Given the description of an element on the screen output the (x, y) to click on. 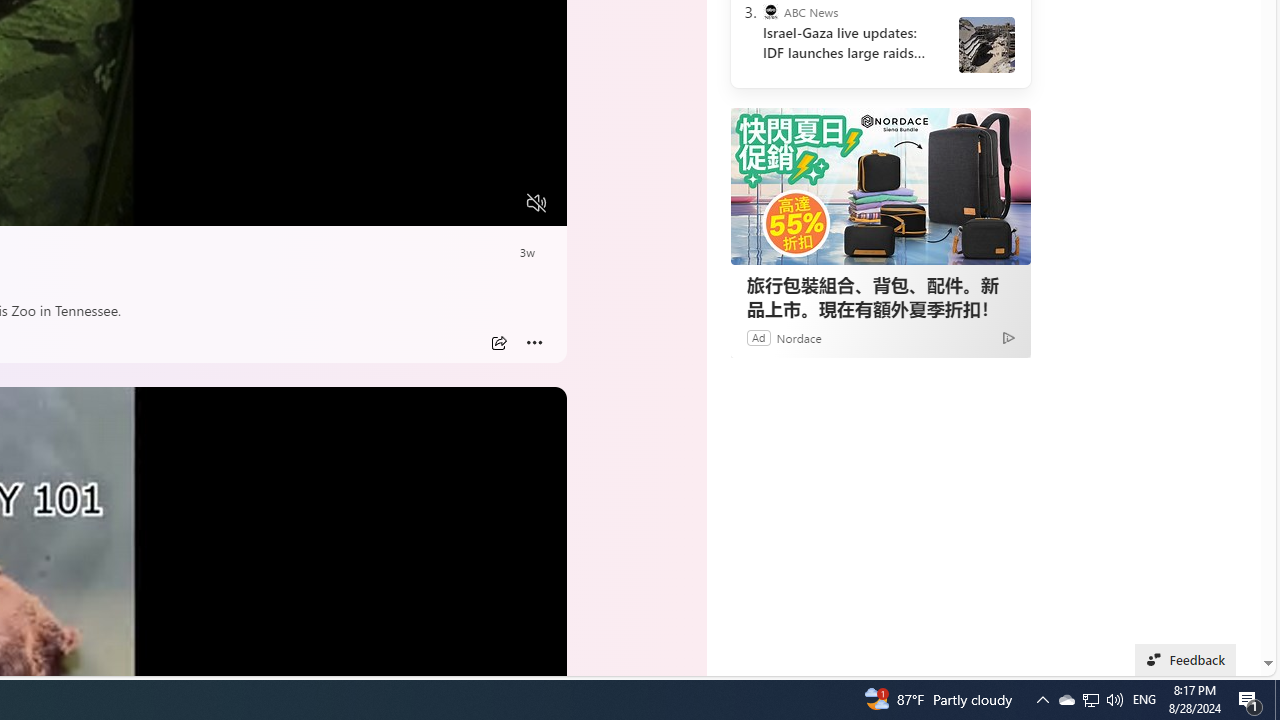
More (534, 343)
Unmute (535, 203)
More (534, 343)
